Given the description of an element on the screen output the (x, y) to click on. 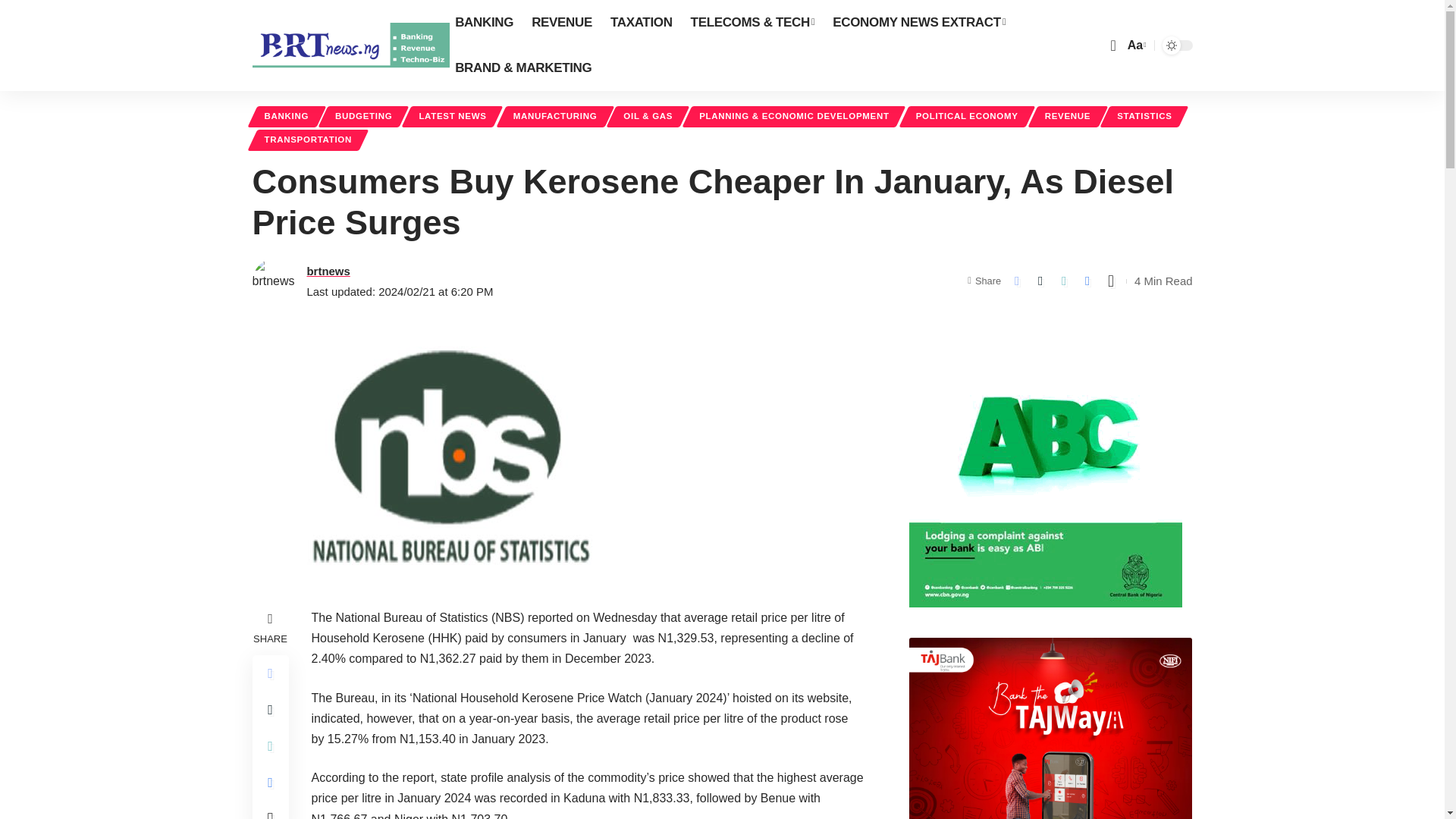
TAXATION (641, 22)
ECONOMY NEWS EXTRACT (919, 22)
Aa (1135, 45)
BANKING (483, 22)
REVENUE (561, 22)
BRT-News (349, 44)
